Given the description of an element on the screen output the (x, y) to click on. 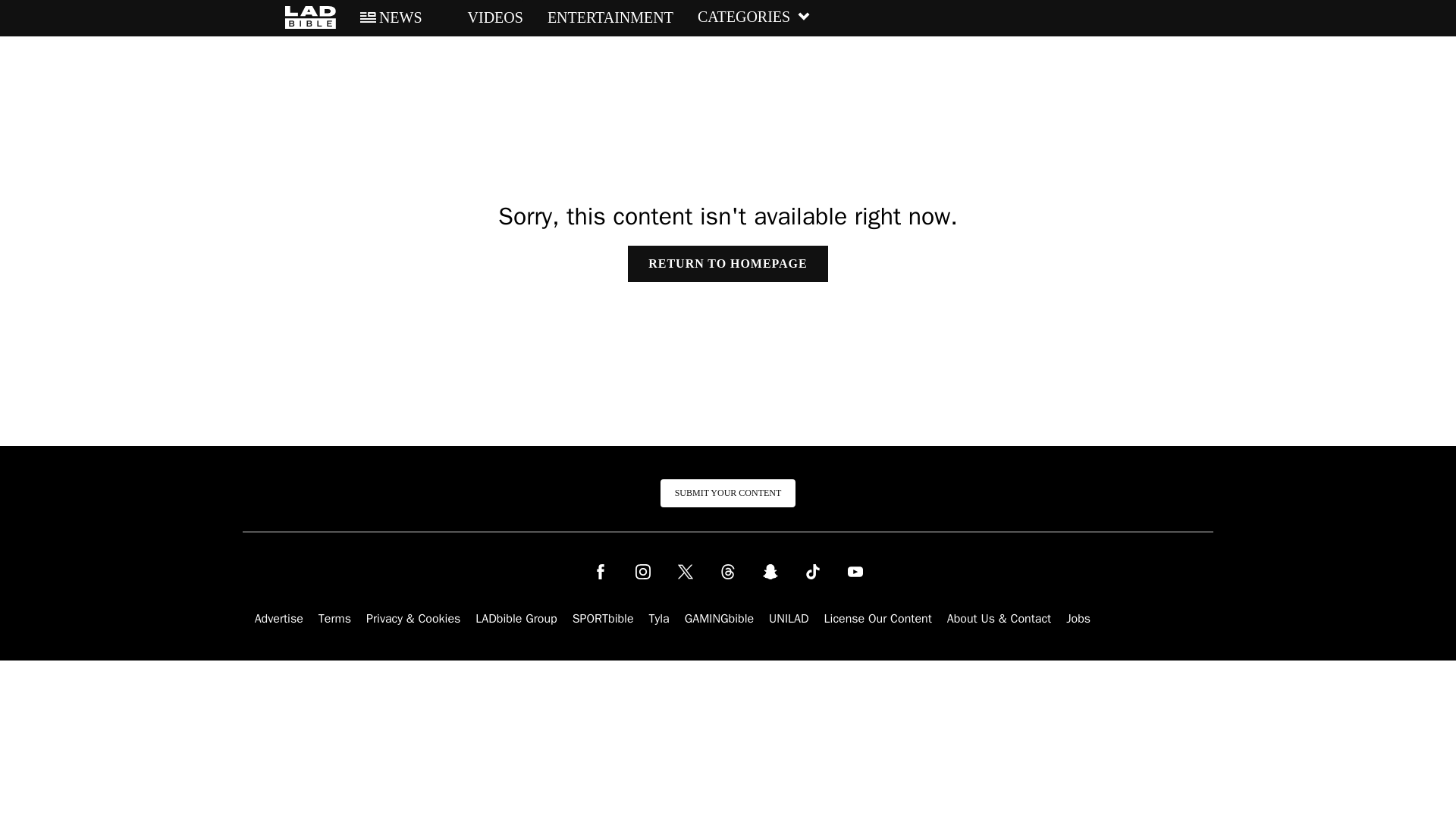
CATEGORIES (753, 17)
NEWS (390, 17)
Advertise (278, 618)
VIDEOS (484, 17)
ENTERTAINMENT (609, 17)
RETURN TO HOMEPAGE (727, 263)
